Given the description of an element on the screen output the (x, y) to click on. 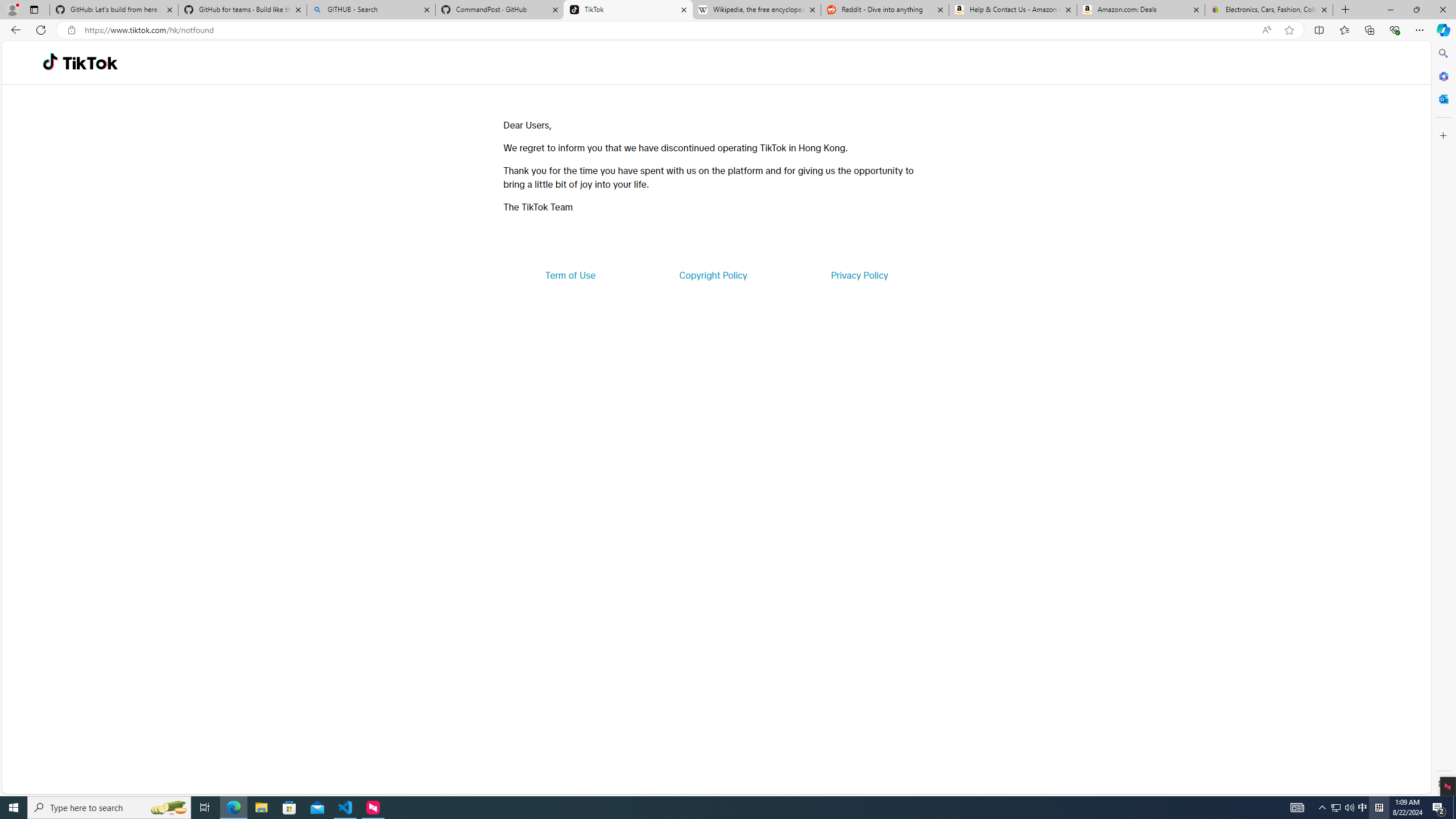
Copyright Policy (712, 274)
TikTok (628, 9)
Term of Use (569, 274)
TikTok (89, 62)
Wikipedia, the free encyclopedia (756, 9)
